Given the description of an element on the screen output the (x, y) to click on. 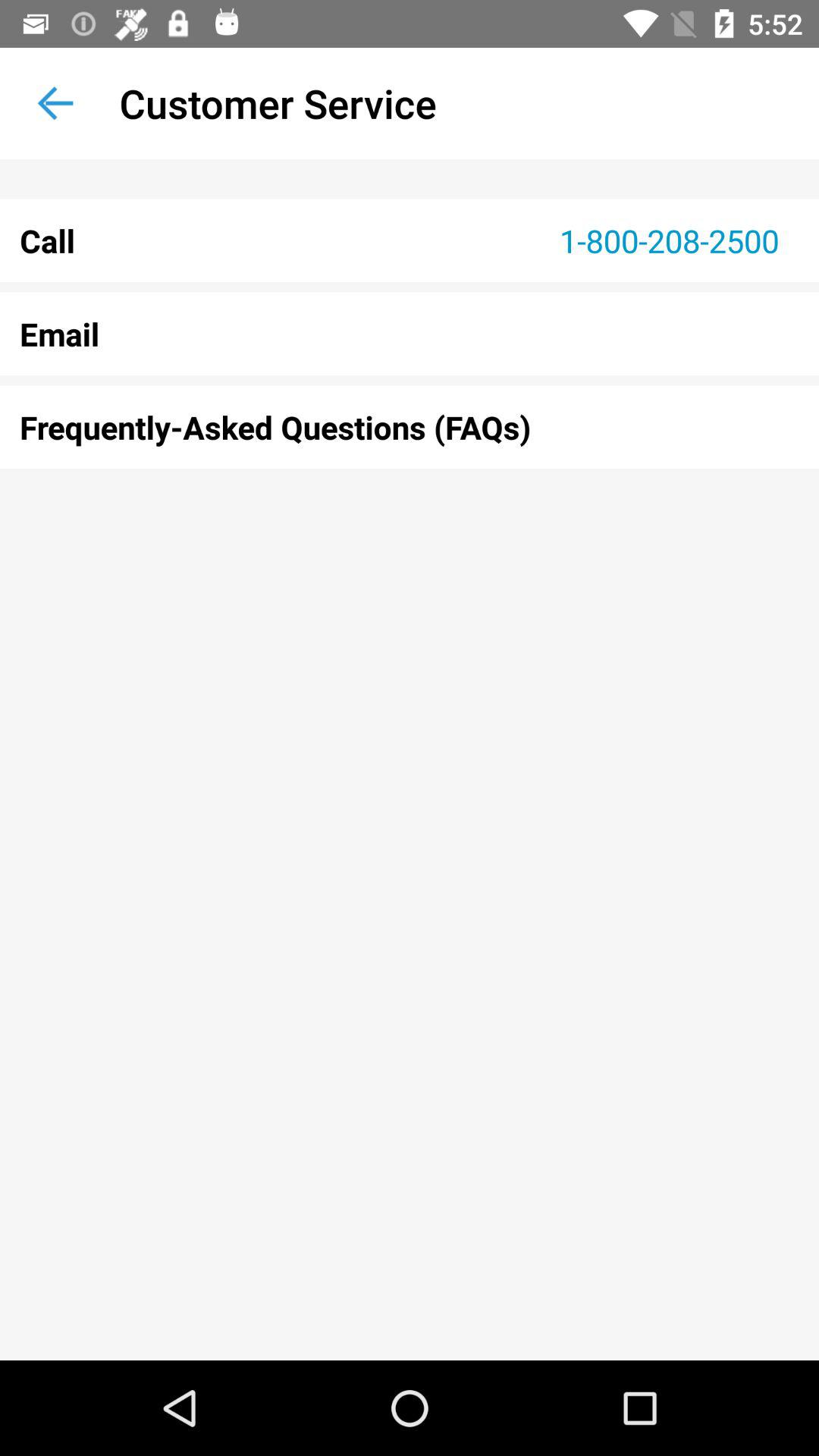
select email (409, 333)
